Given the description of an element on the screen output the (x, y) to click on. 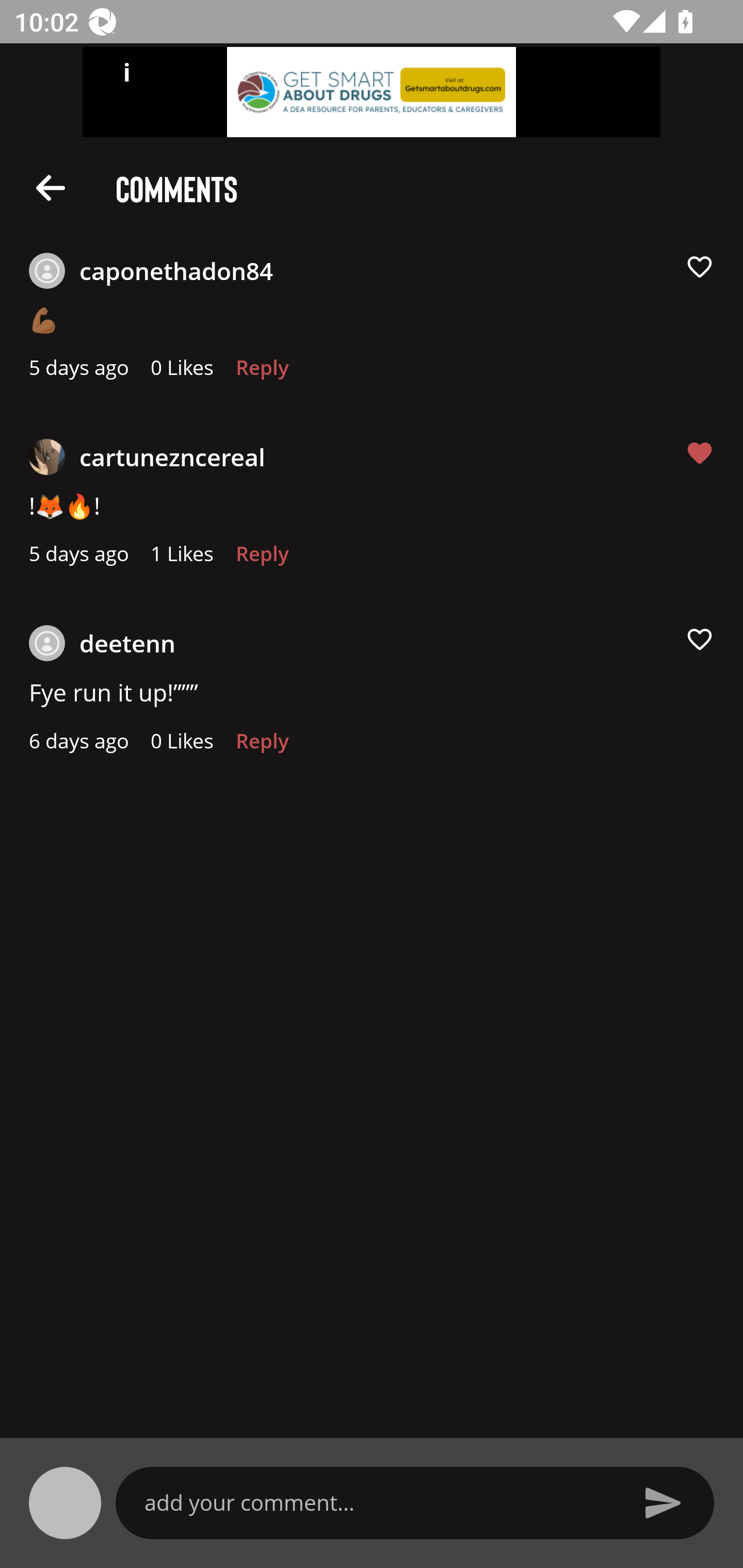
Description (50, 187)
Reply (261, 372)
Reply (261, 558)
Reply (261, 746)
add your comment… (378, 1502)
